Given the description of an element on the screen output the (x, y) to click on. 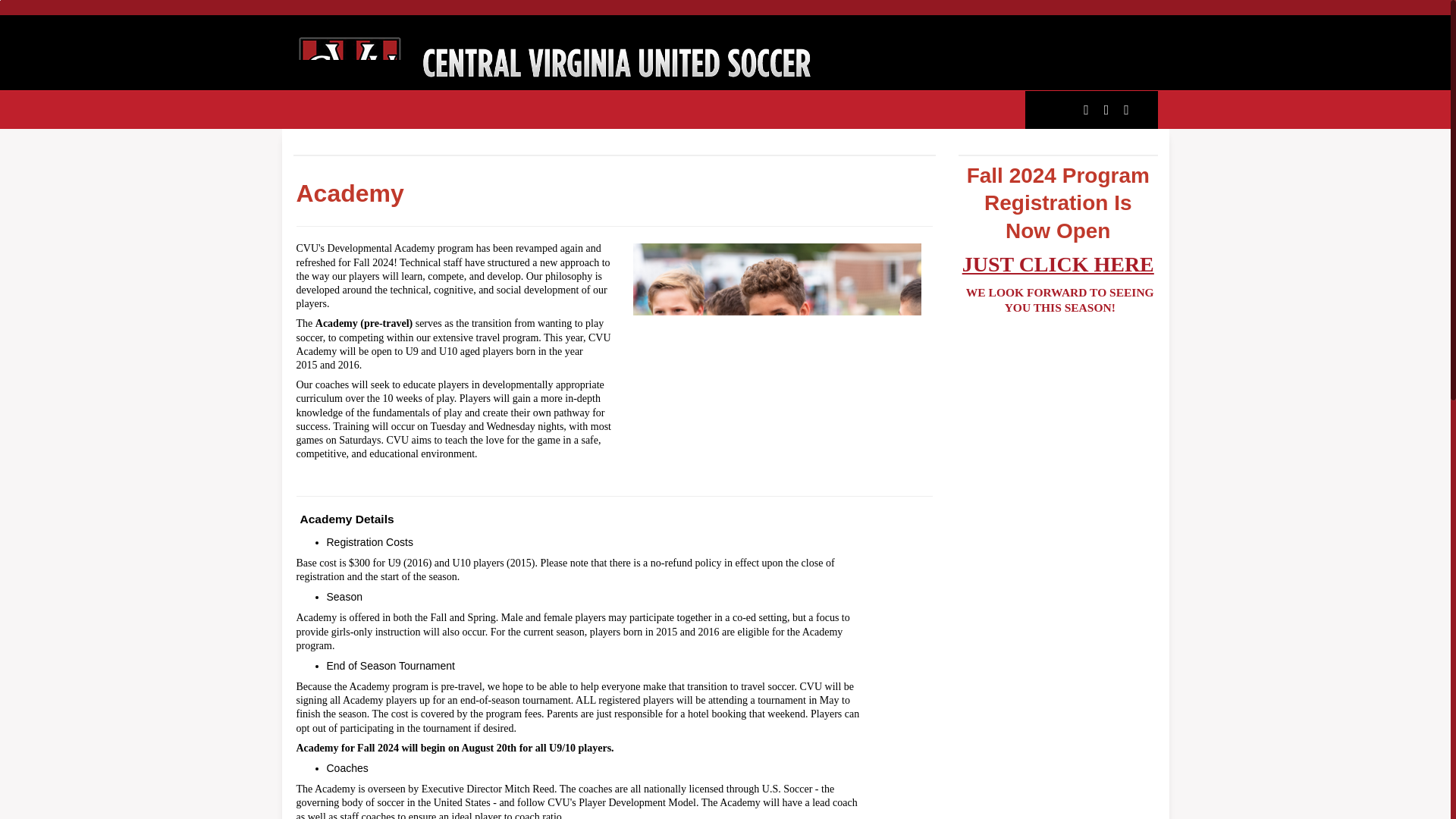
Fall 2024 Program Registration Is Now Open (1058, 196)
JUST CLICK HERE (1058, 256)
WE LOOK FORWARD TO SEEING YOU THIS SEASON! (1060, 299)
